Given the description of an element on the screen output the (x, y) to click on. 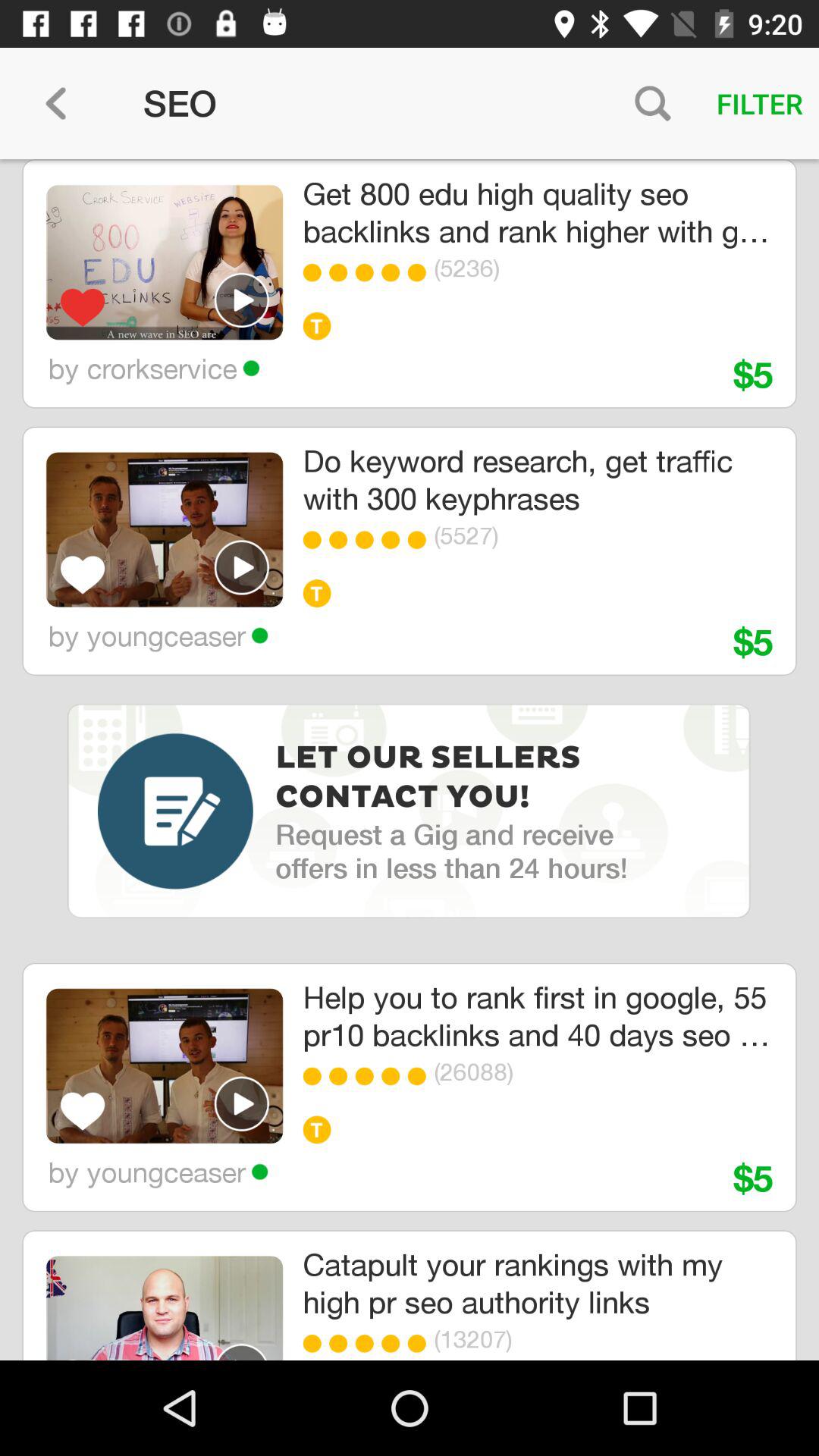
turn off the (13207) icon (579, 1339)
